Given the description of an element on the screen output the (x, y) to click on. 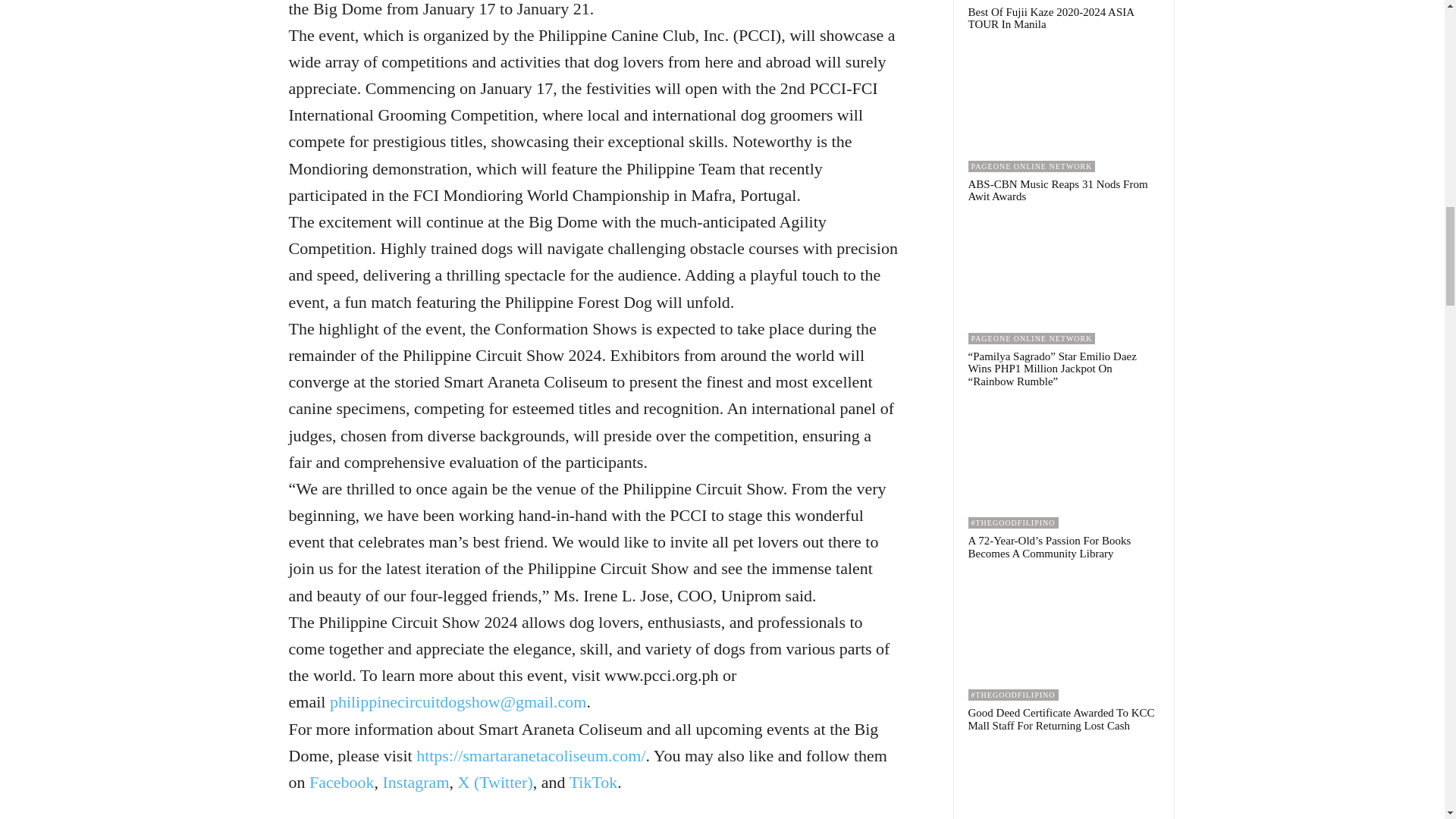
Facebook (341, 782)
TikTok (593, 782)
Instagram (415, 782)
